Given the description of an element on the screen output the (x, y) to click on. 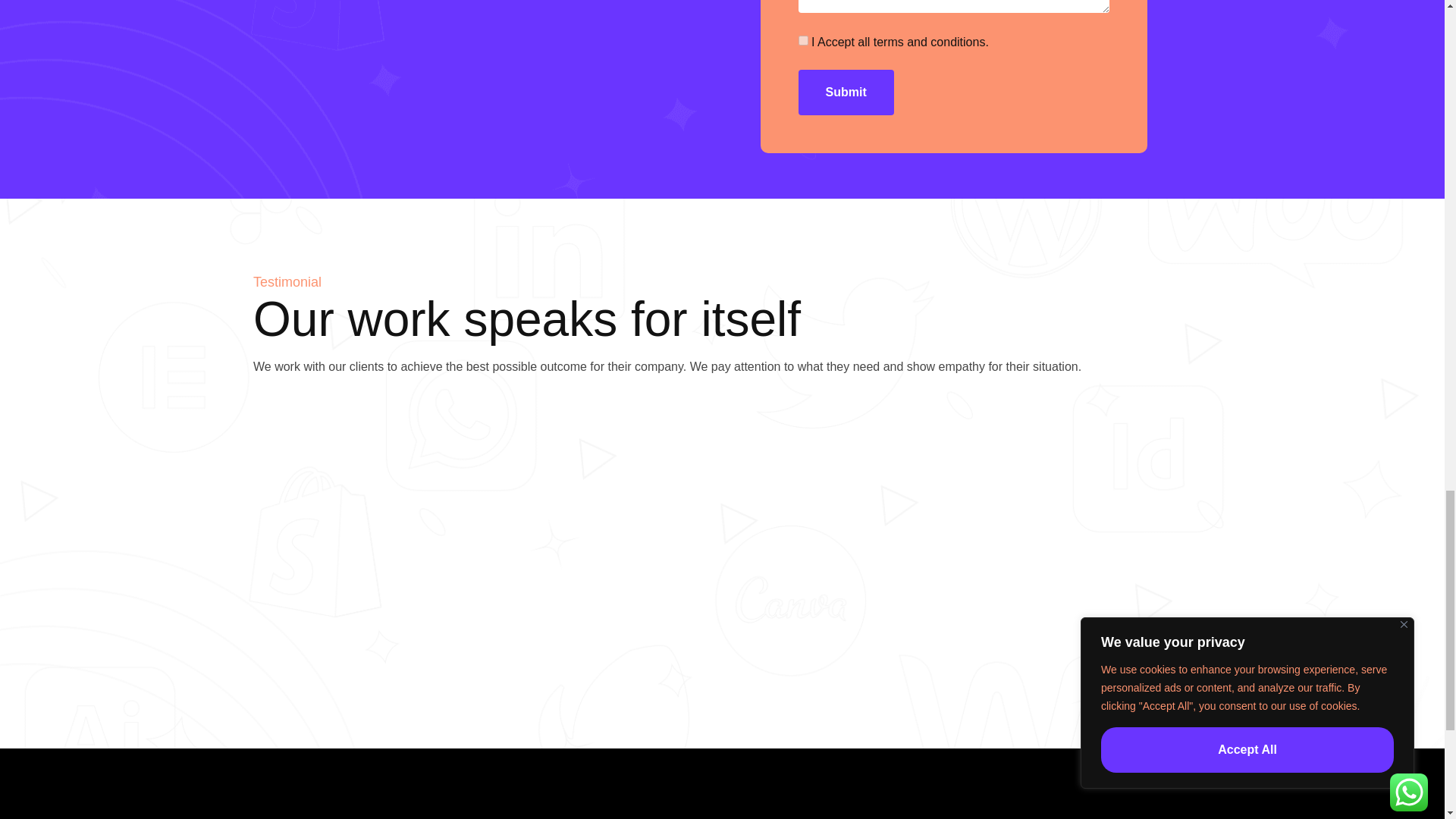
Submit (845, 92)
on (802, 40)
